Given the description of an element on the screen output the (x, y) to click on. 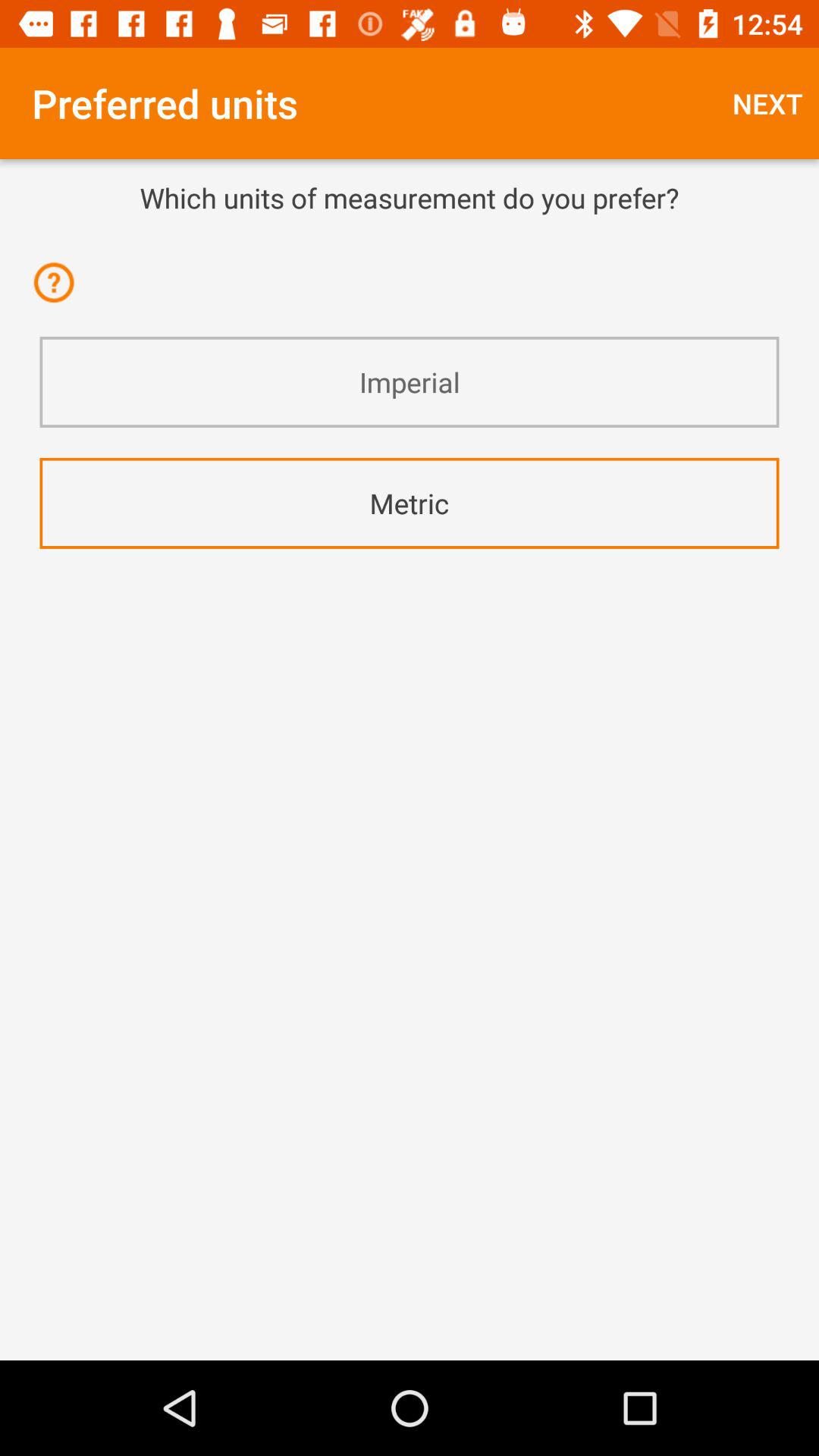
launch the imperial item (409, 381)
